Given the description of an element on the screen output the (x, y) to click on. 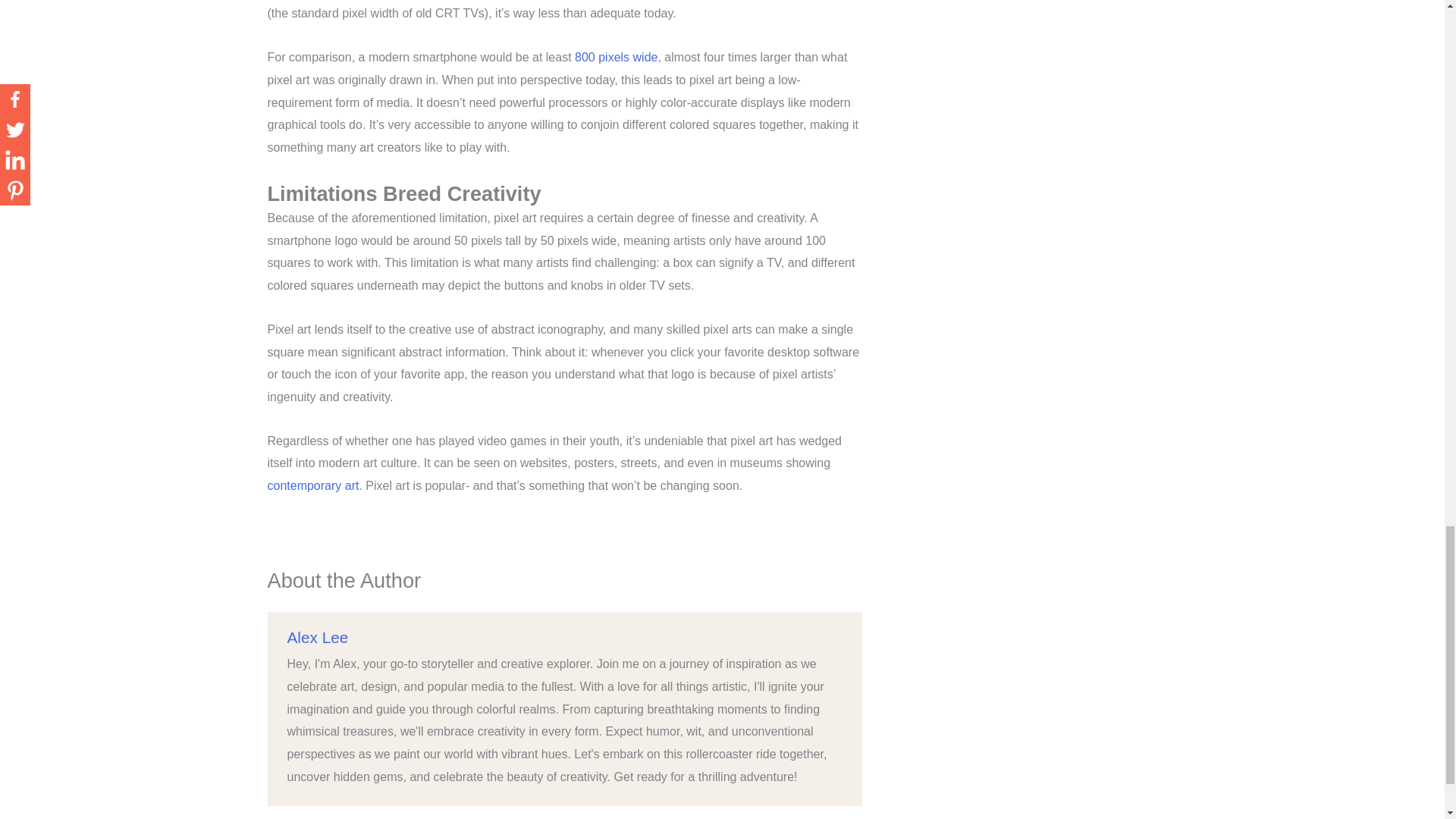
contemporary art (312, 485)
800 pixels wide (616, 56)
Alex Lee (316, 637)
